Given the description of an element on the screen output the (x, y) to click on. 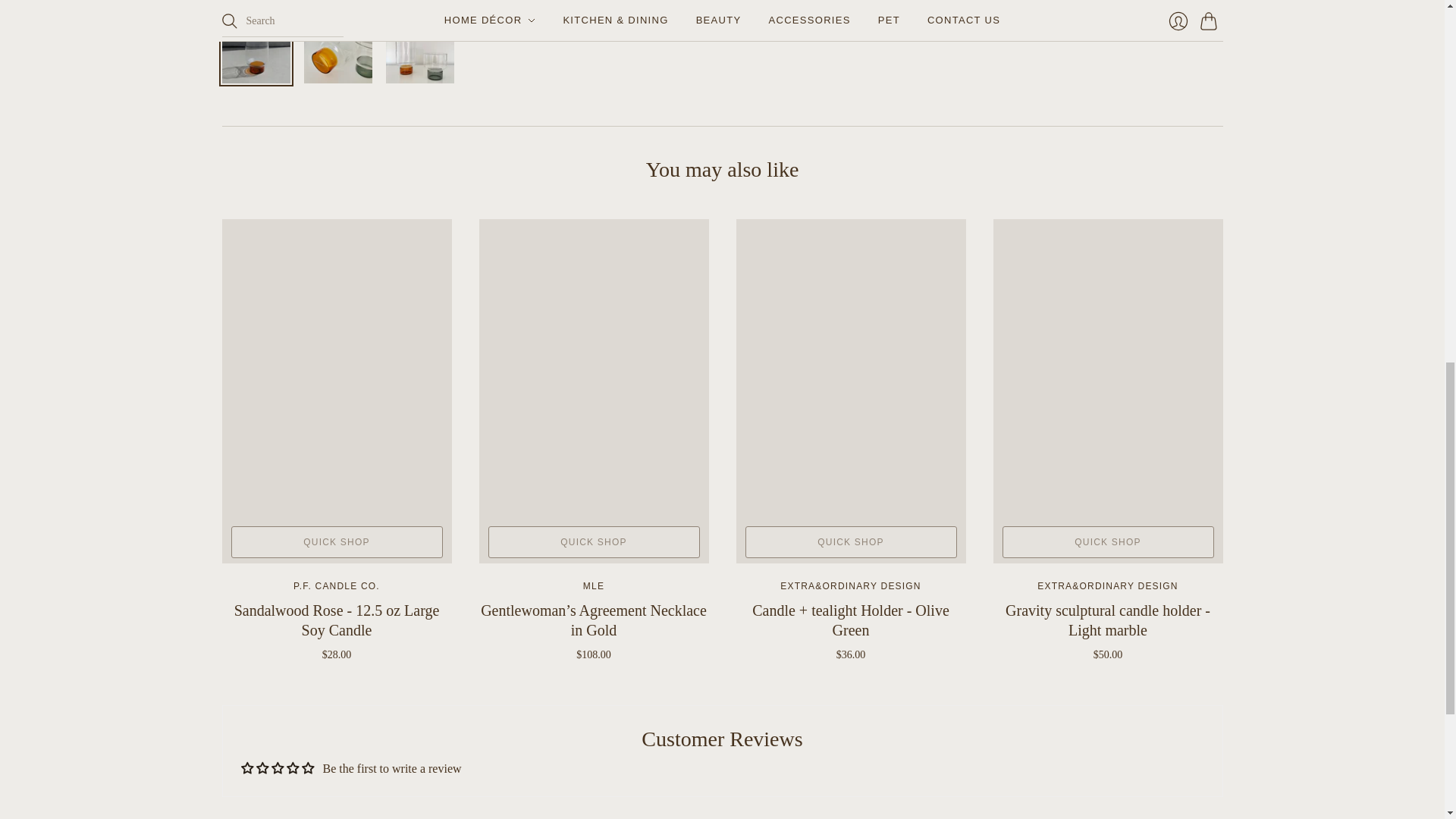
MLE (593, 585)
P.F. Candle Co. (337, 585)
